Given the description of an element on the screen output the (x, y) to click on. 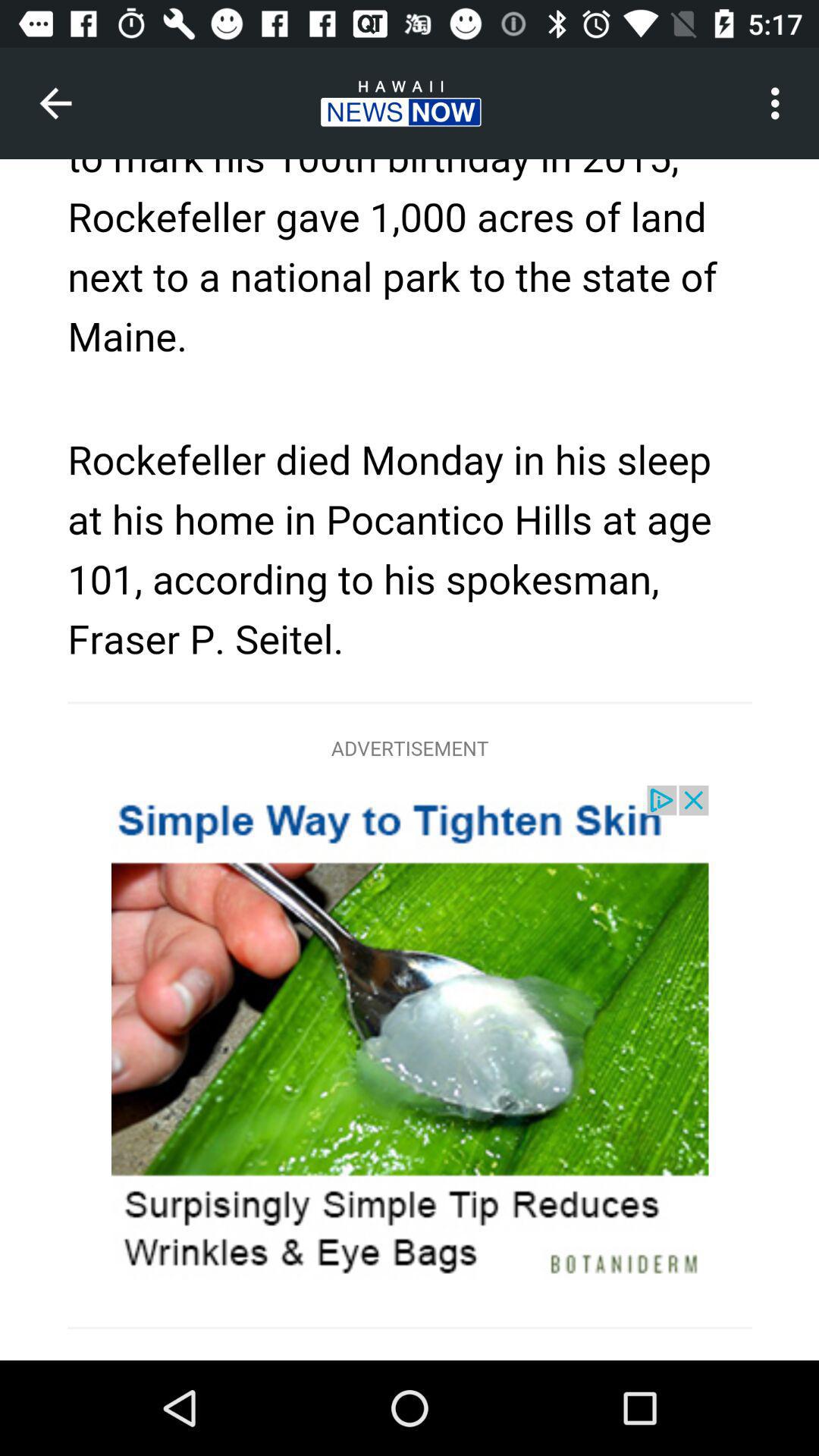
browser page (409, 759)
